Given the description of an element on the screen output the (x, y) to click on. 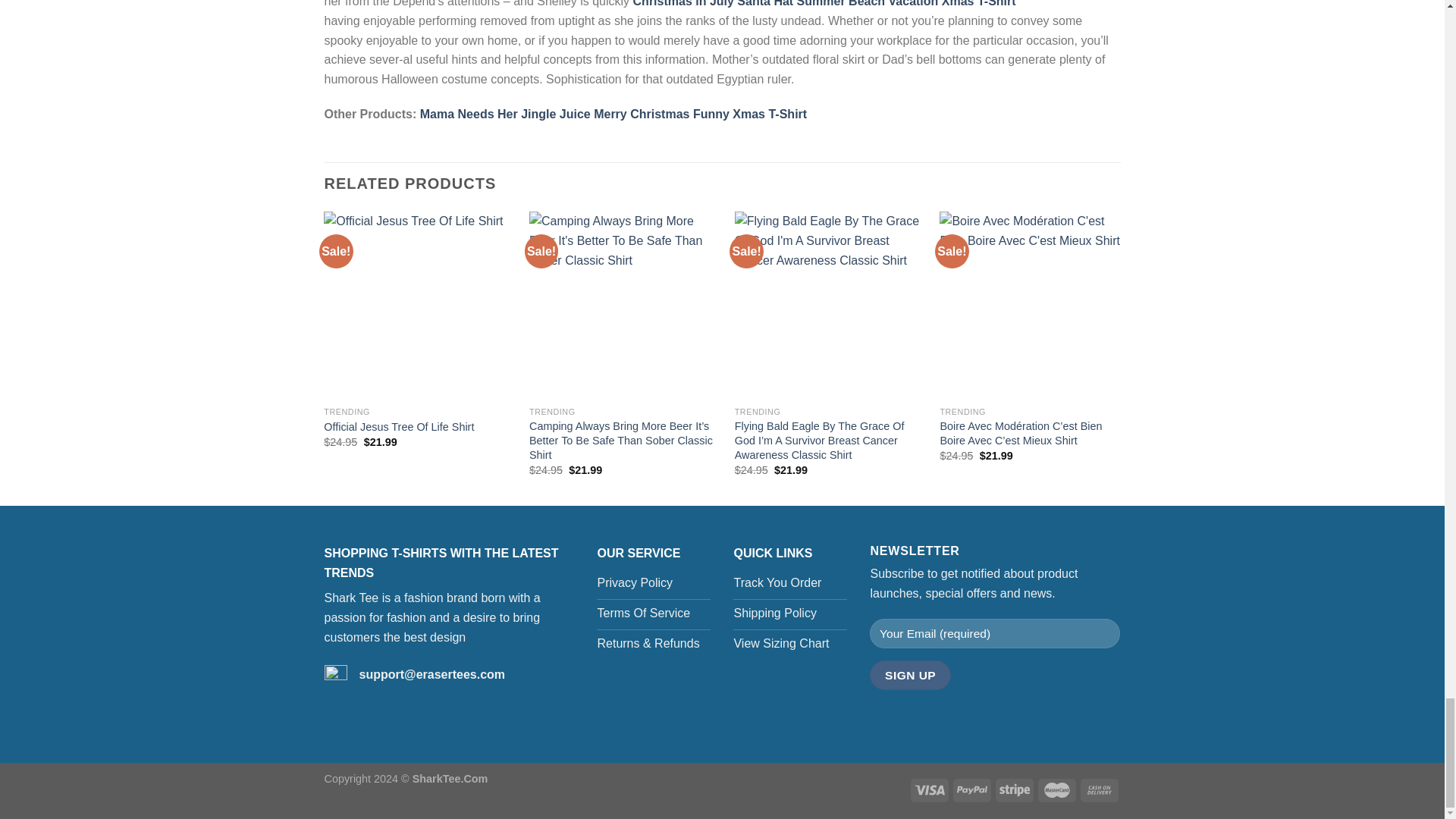
Sign Up (909, 675)
